Given the description of an element on the screen output the (x, y) to click on. 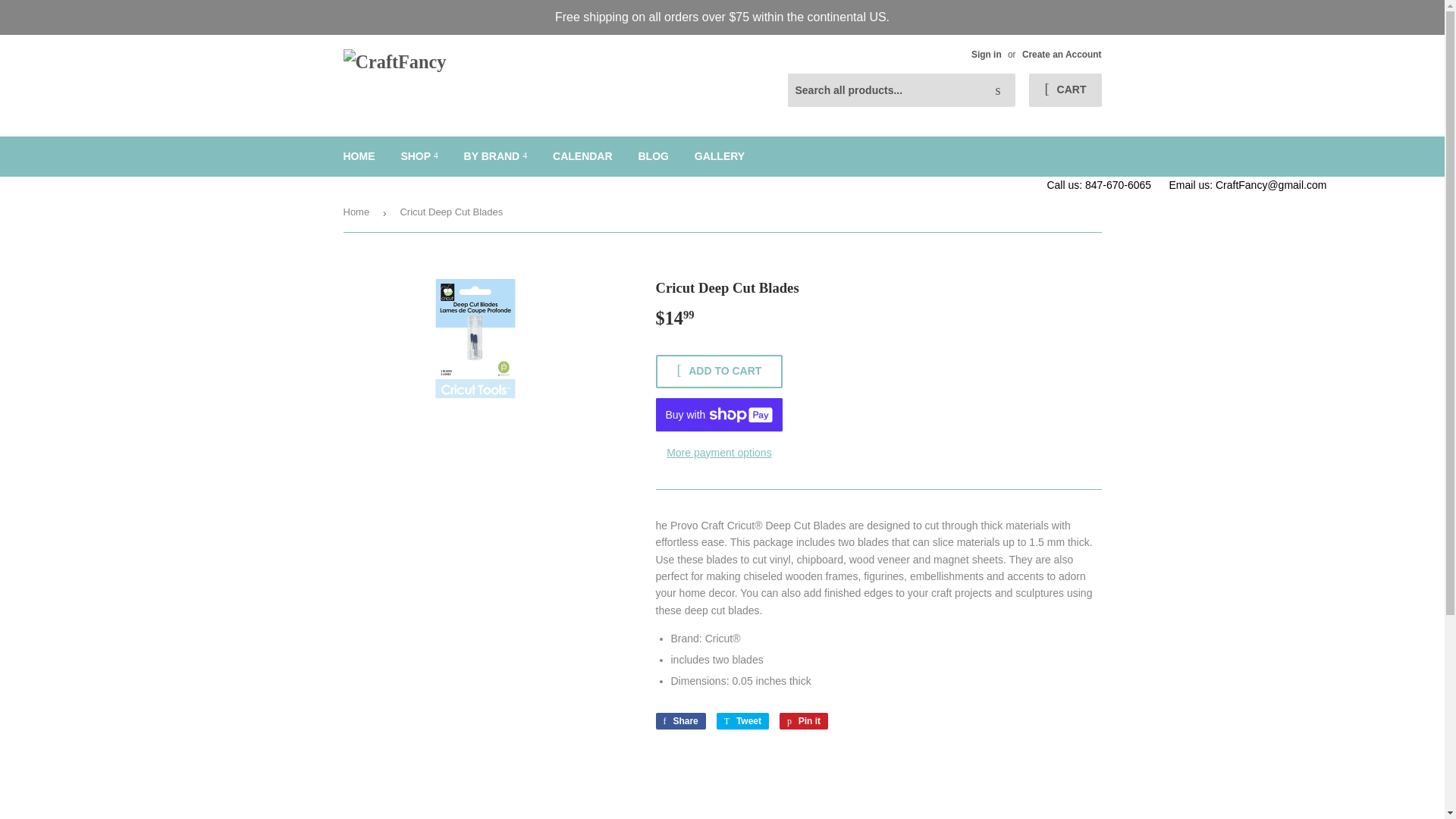
Tweet on Twitter (742, 720)
Pin on Pinterest (803, 720)
Back to the frontpage (358, 212)
CART (1064, 90)
Share on Facebook (679, 720)
Sign in (986, 54)
Create an Account (1062, 54)
Search (997, 91)
